Given the description of an element on the screen output the (x, y) to click on. 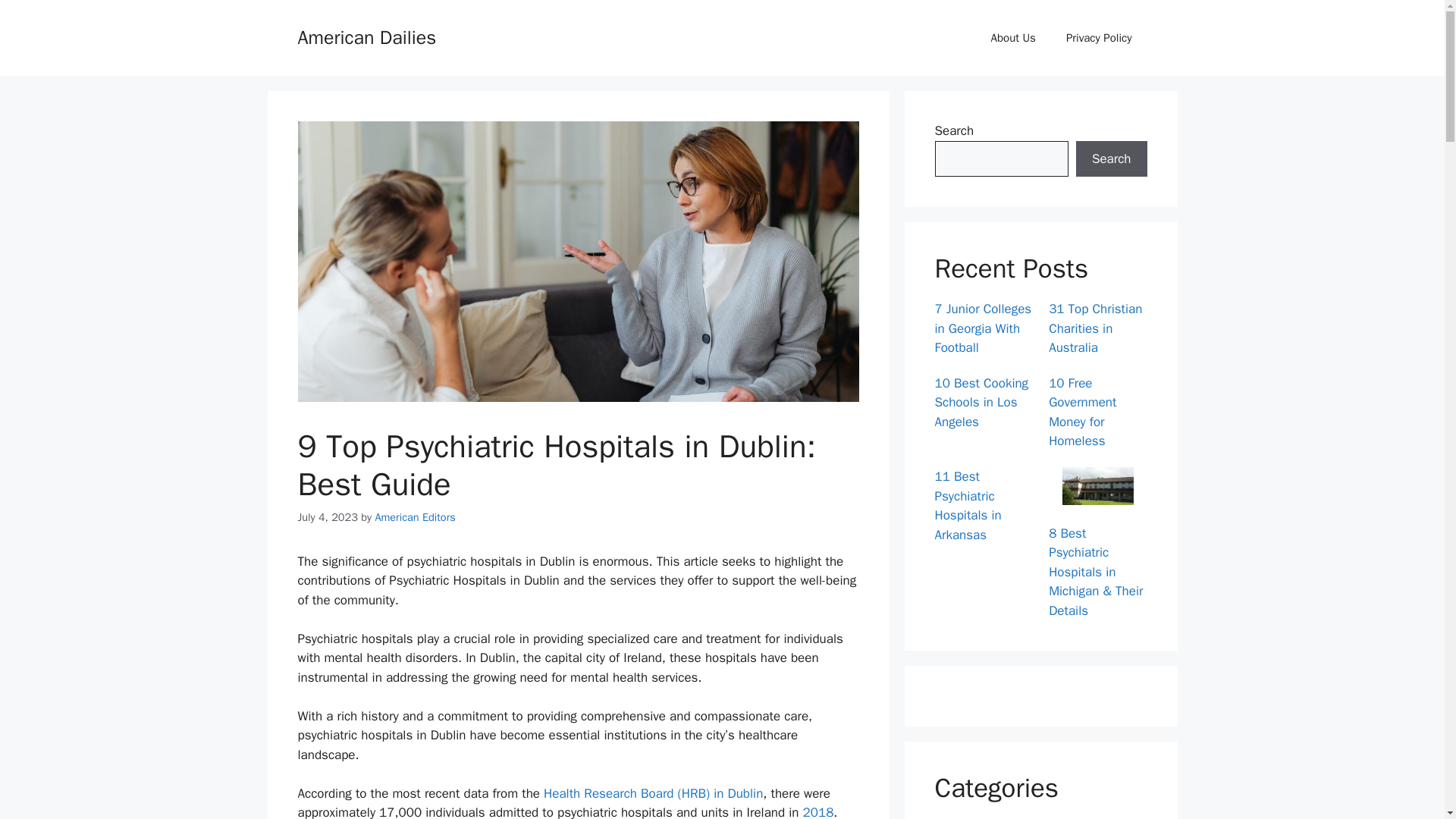
American Dailies (366, 37)
2018 (814, 811)
View all posts by American Editors (414, 517)
Privacy Policy (1099, 37)
About Us (1013, 37)
American Editors (414, 517)
